Given the description of an element on the screen output the (x, y) to click on. 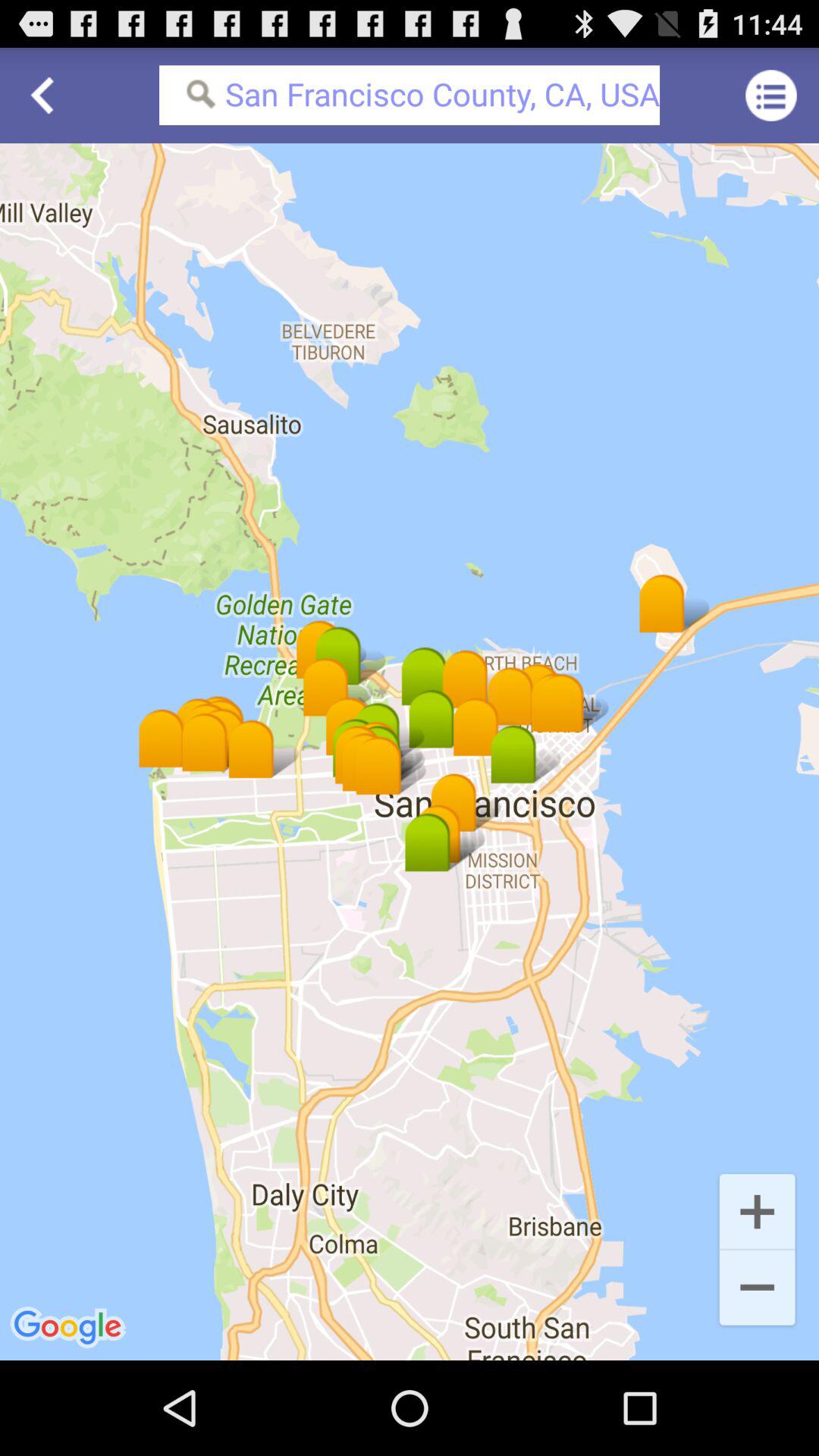
press the icon next to san francisco county (771, 95)
